Given the description of an element on the screen output the (x, y) to click on. 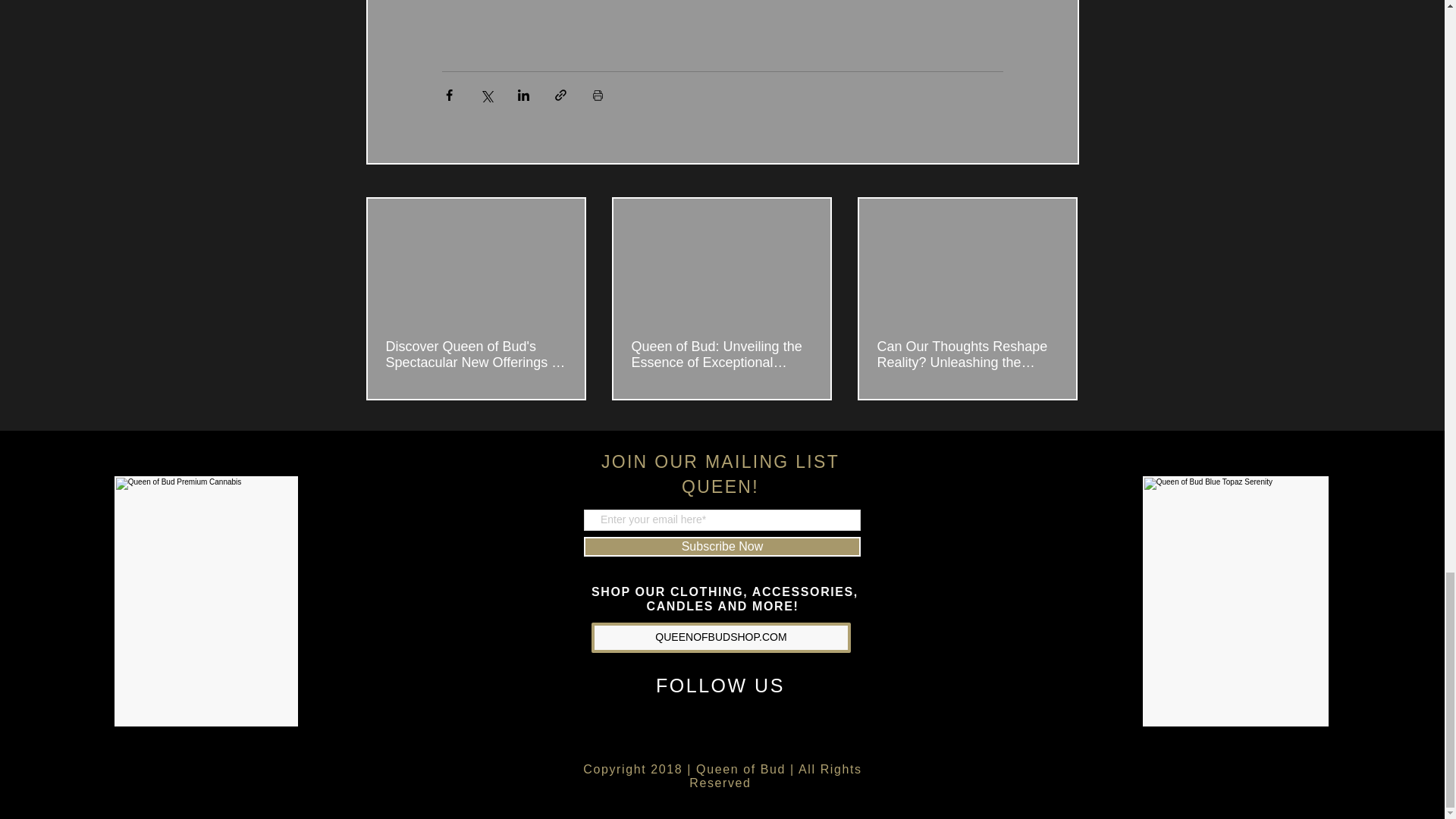
QUEENOFBUDSHOP.COM (720, 637)
Subscribe Now (721, 546)
